Given the description of an element on the screen output the (x, y) to click on. 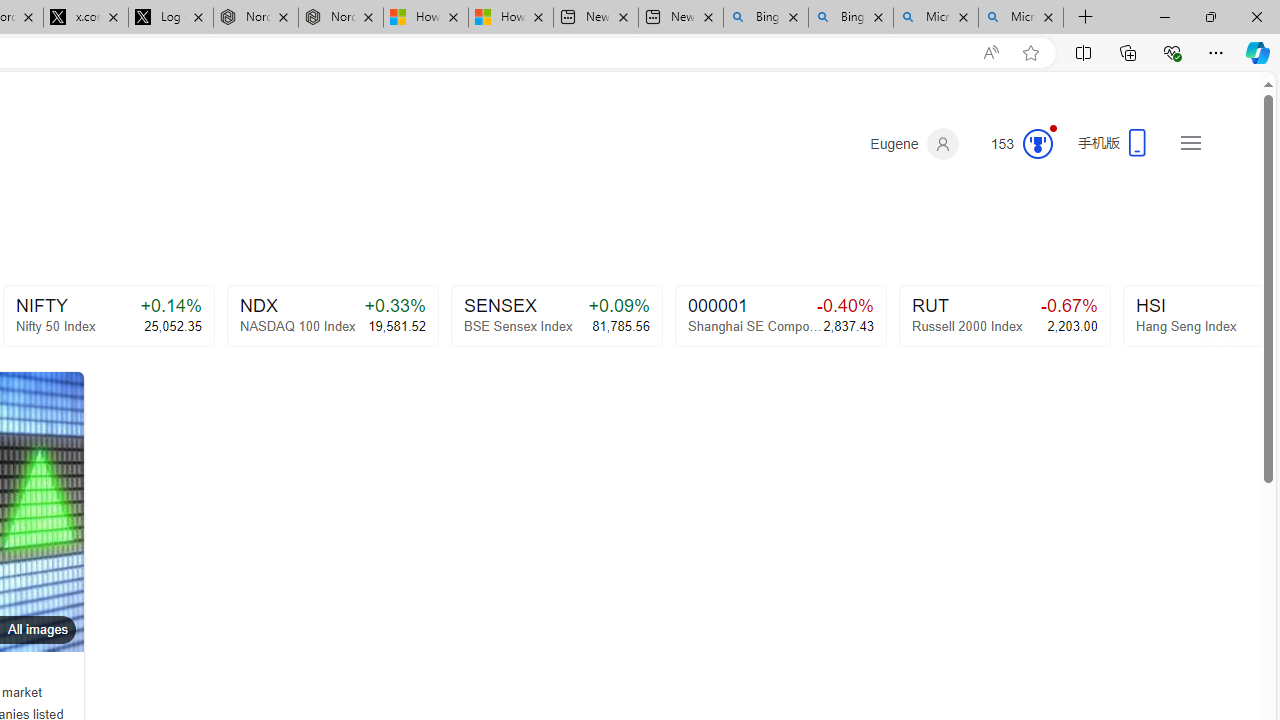
NIFTY+0.14%Nifty 50 Index25,052.35 (108, 315)
Microsoft Bing Timeline - Search (1021, 17)
Click to scroll right (1220, 314)
SENSEX +0.09% BSE Sensex Index 81,785.56 (556, 315)
NDX+0.33%NASDAQ 100 Index19,581.52 (332, 315)
Eugene (914, 143)
x.com/NordaceOfficial (85, 17)
Settings and quick links (1190, 142)
Log in to X / X (170, 17)
